Given the description of an element on the screen output the (x, y) to click on. 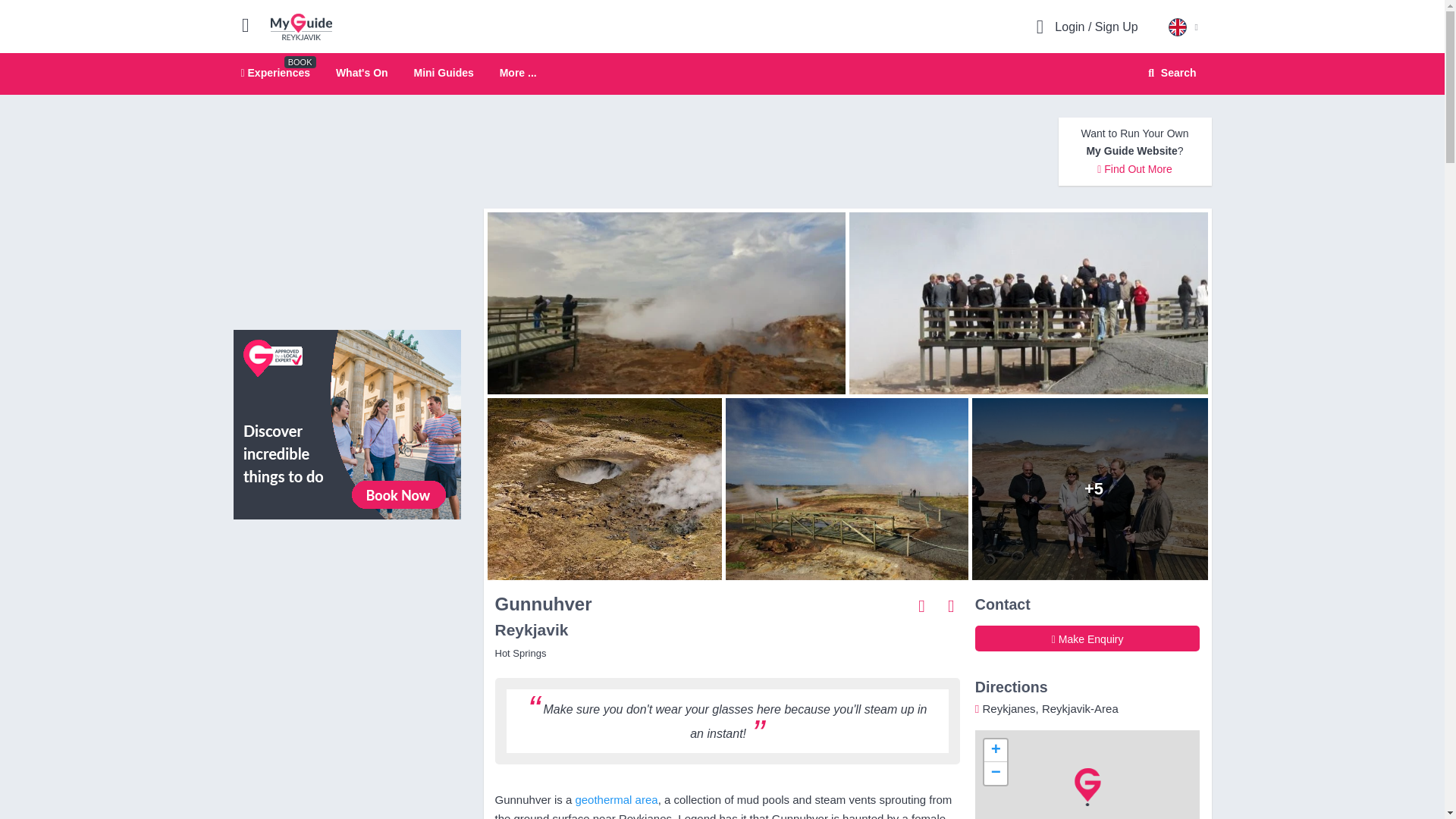
My Guide Reykjavik (300, 25)
Gunnuhver (846, 488)
Gunnuhver (1031, 302)
Gunnuhver (662, 302)
More ... (518, 72)
Gunnuhver (600, 488)
Experiences (276, 72)
What's On (362, 72)
Search (1169, 72)
Gunnuhver (1093, 488)
View All Experiences (721, 74)
Zoom in (346, 423)
Mini Guides (995, 750)
GetYourGuide Widget (443, 72)
